Given the description of an element on the screen output the (x, y) to click on. 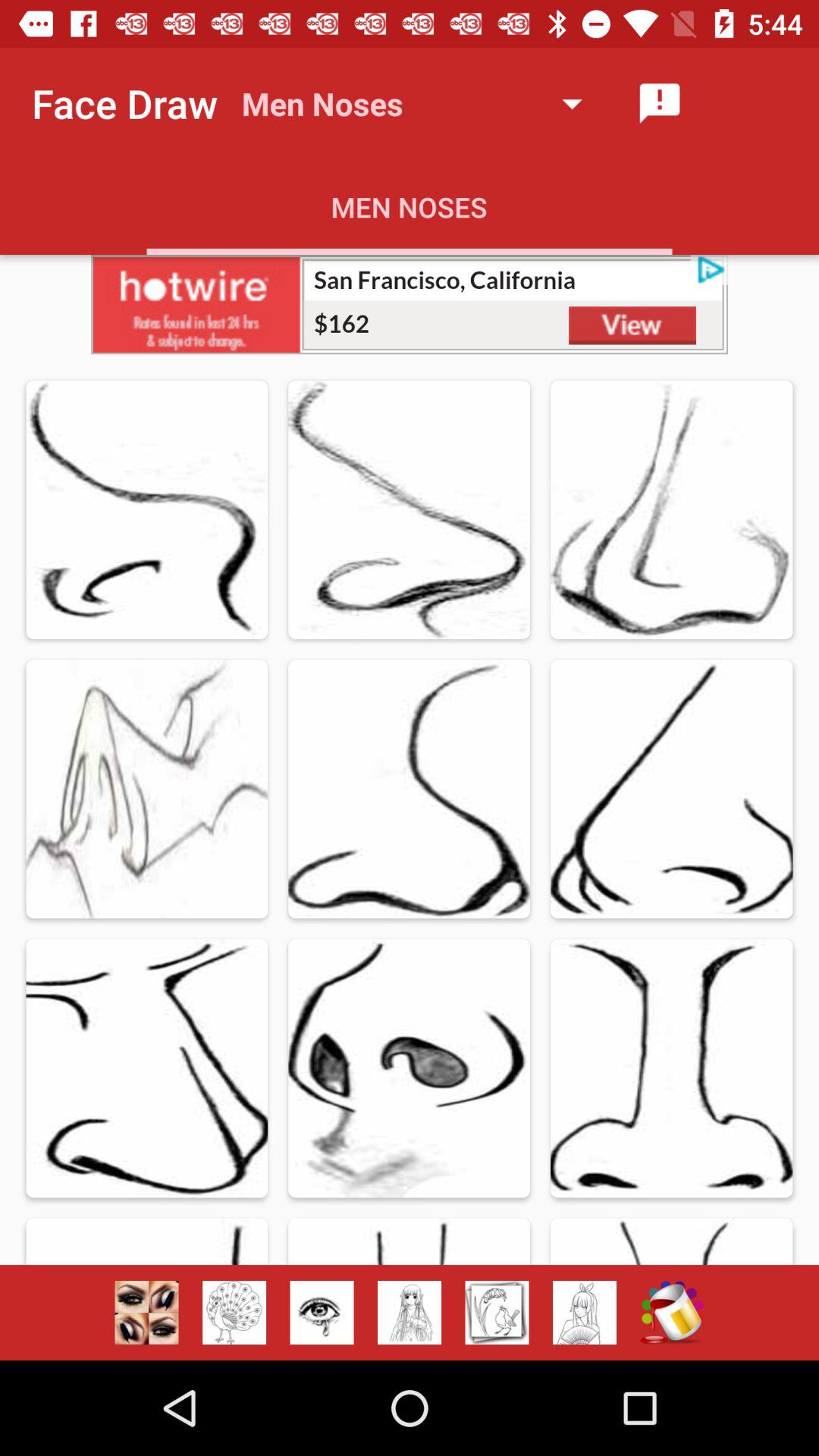
colors button (672, 1312)
